Given the description of an element on the screen output the (x, y) to click on. 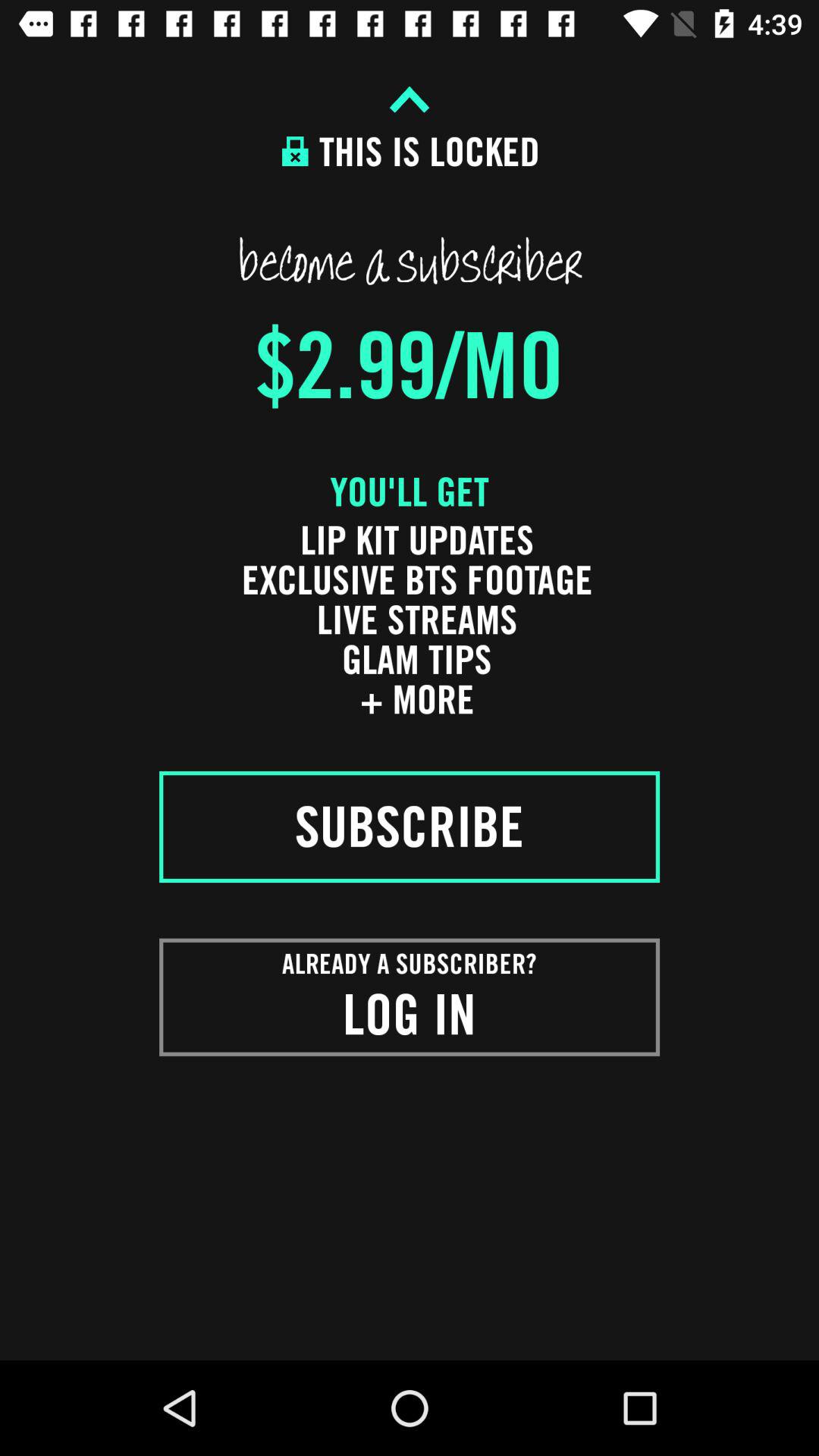
turn on item above the already a subscriber? item (409, 826)
